Given the description of an element on the screen output the (x, y) to click on. 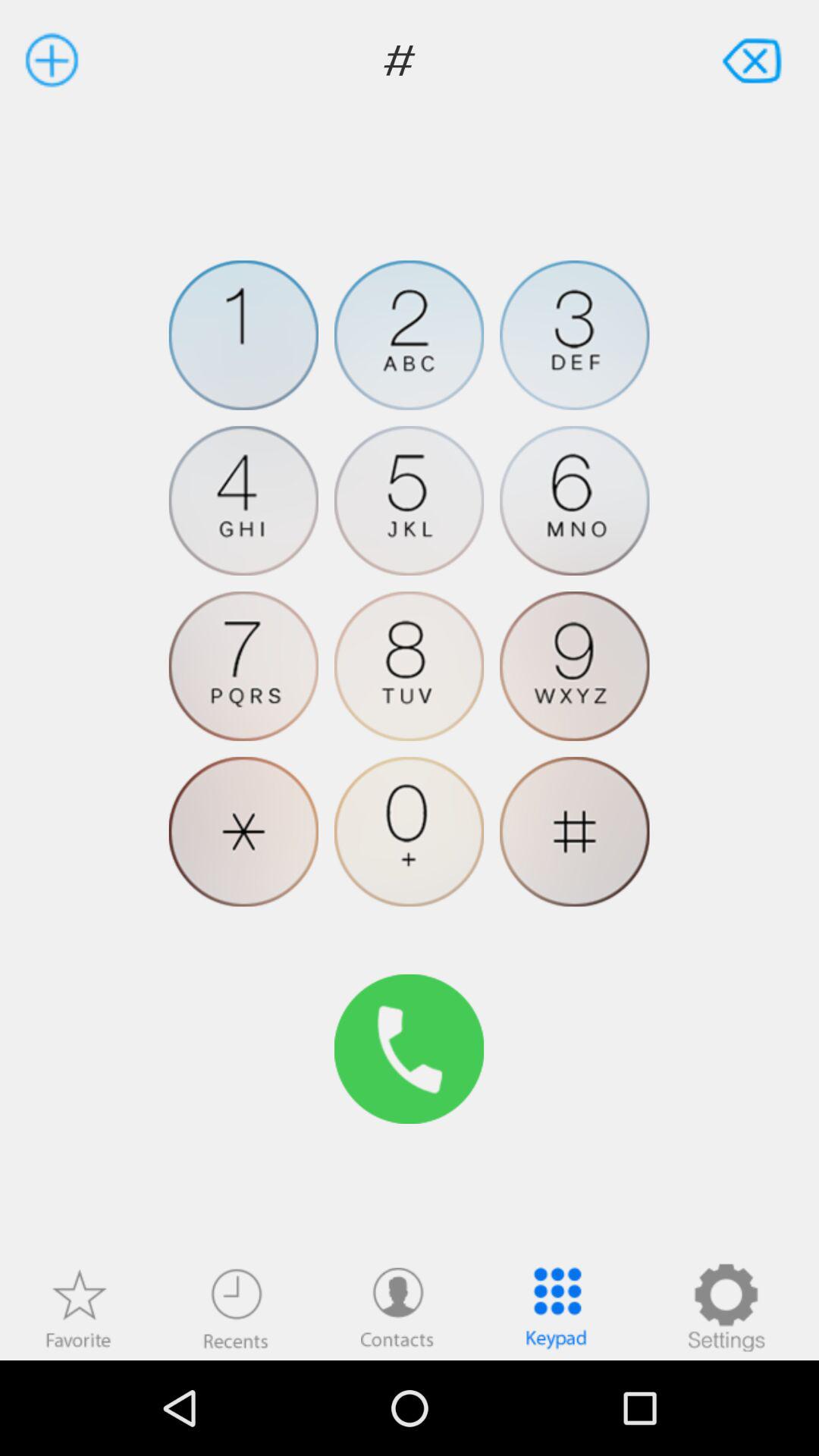
go to favorite (78, 1307)
